Given the description of an element on the screen output the (x, y) to click on. 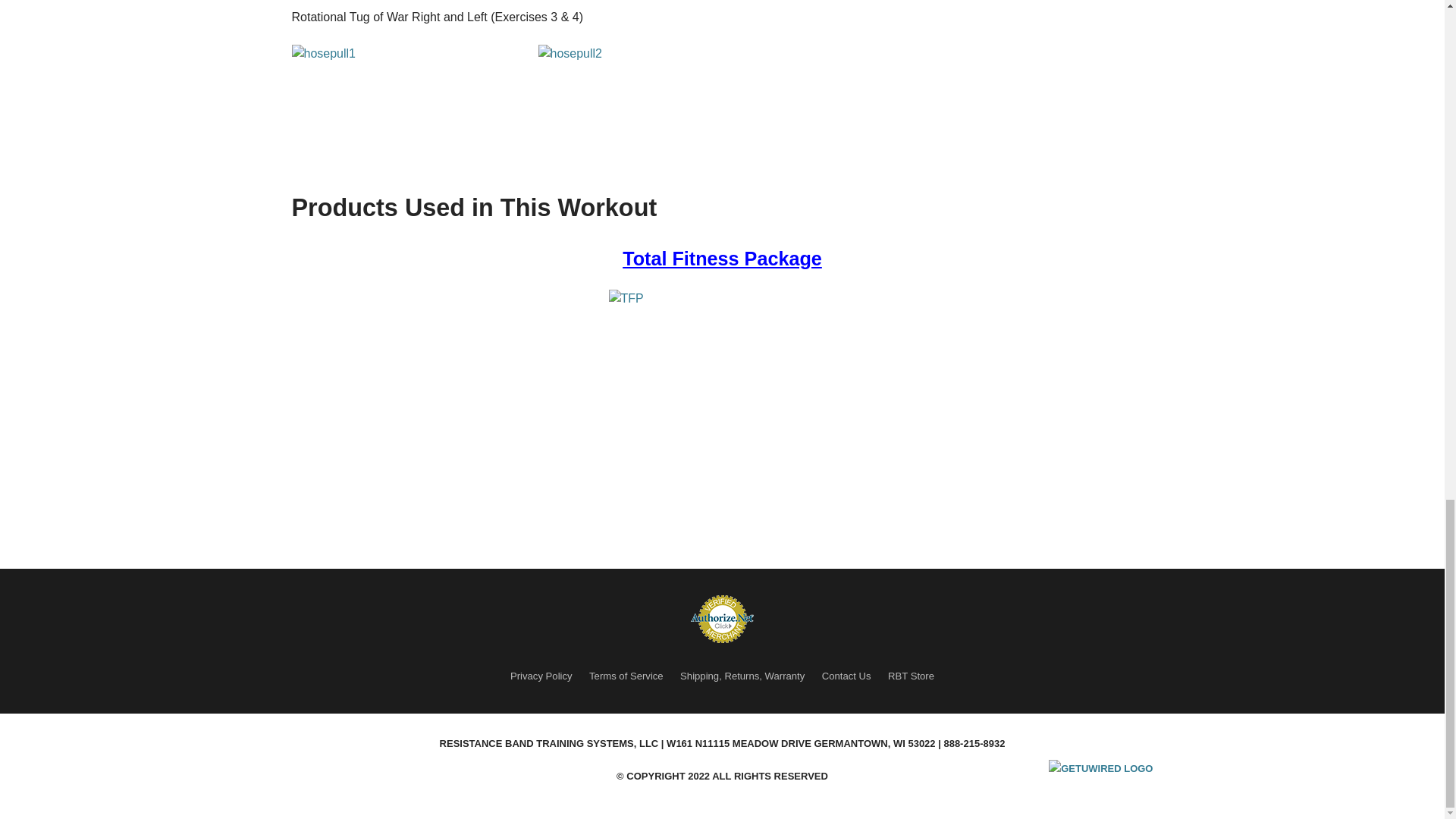
Terms of Service (626, 676)
Total Fitness Package (722, 258)
Privacy Policy (540, 676)
